Given the description of an element on the screen output the (x, y) to click on. 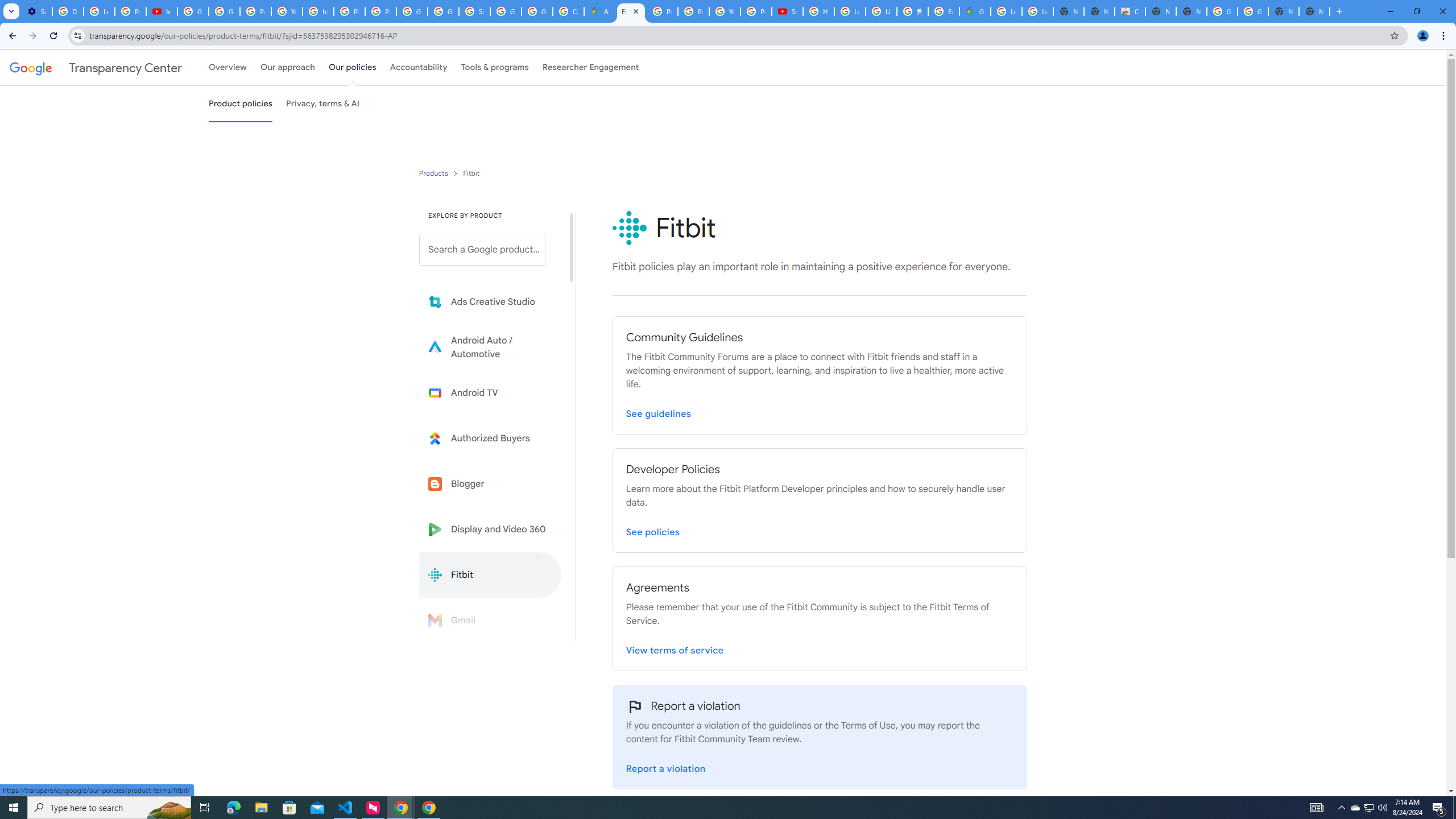
Delete photos & videos - Computer - Google Photos Help (67, 11)
Chrome Web Store (1129, 11)
Google Images (1222, 11)
Visit Fitbit Community Guidelines page (658, 411)
Privacy, terms & AI (322, 103)
Blogger (490, 483)
Gmail (490, 619)
Learn how to find your photos - Google Photos Help (98, 11)
Learn more about Android Auto (490, 347)
Create your Google Account (568, 11)
Fitbit (490, 574)
